Given the description of an element on the screen output the (x, y) to click on. 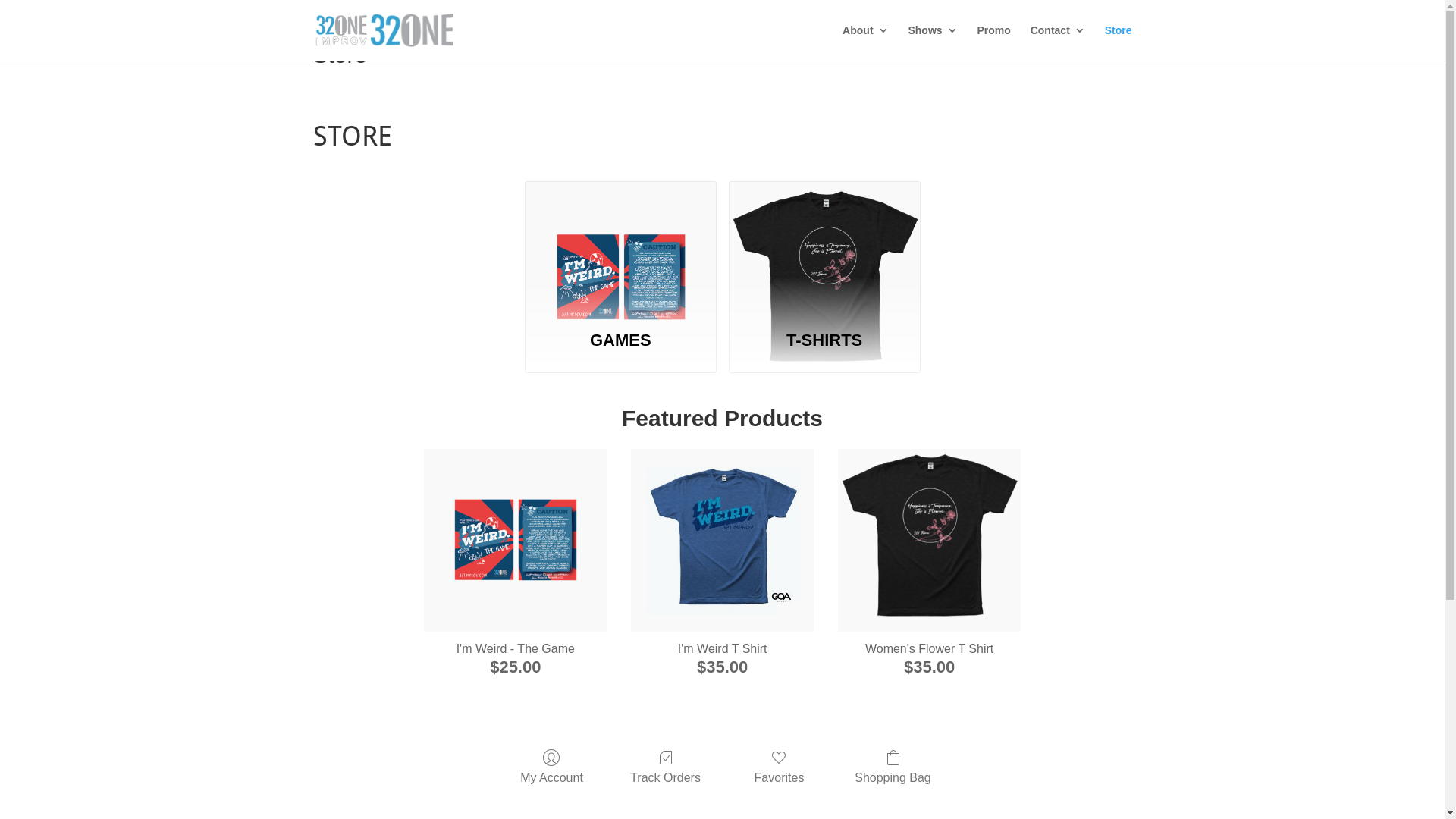
I'm Weird T Shirt Element type: hover (722, 539)
Women's Flower T Shirt Element type: text (928, 649)
Women's Flower T Shirt Element type: hover (928, 540)
I'm Weird T Shirt Element type: hover (721, 539)
Promo Element type: text (993, 42)
Women's Flower T Shirt Element type: hover (928, 539)
Favorites Element type: text (779, 766)
Track Orders Element type: text (665, 766)
GAMES Element type: text (620, 343)
Shows Element type: text (932, 42)
Contact Element type: text (1057, 42)
I'm Weird - The Game Element type: hover (514, 539)
I'm Weird - The Game Element type: hover (514, 539)
About Element type: text (865, 42)
My Account Element type: text (551, 766)
Store Element type: text (1118, 42)
I'm Weird - The Game Element type: text (514, 649)
I'm Weird T Shirt Element type: text (721, 649)
GAMES Element type: hover (620, 247)
T-SHIRTS Element type: hover (824, 247)
Shopping Bag Element type: text (892, 766)
T-SHIRTS Element type: text (824, 343)
